Given the description of an element on the screen output the (x, y) to click on. 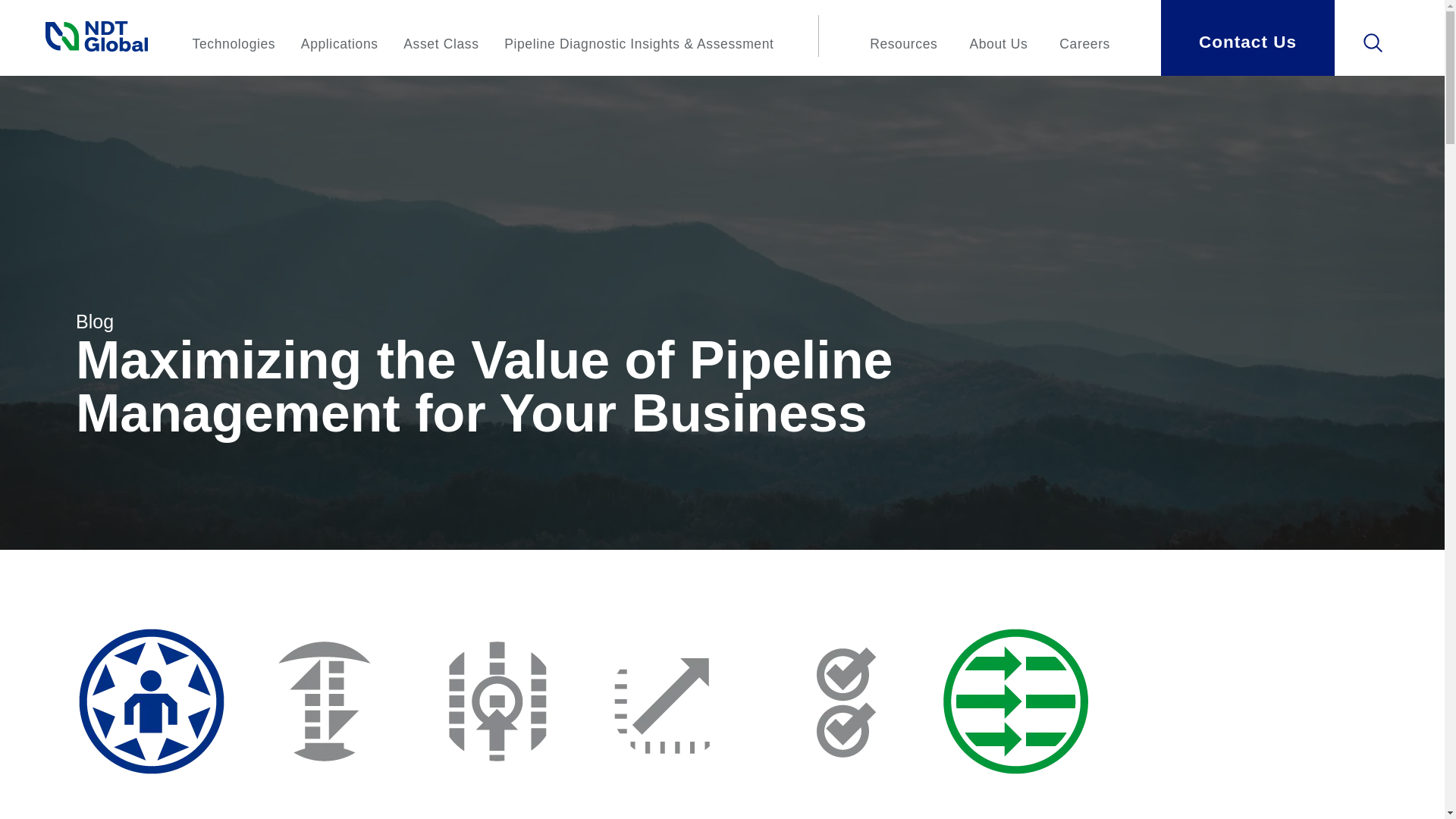
About Us (998, 43)
Technologies (234, 43)
Chat Widget (1406, 782)
Resources (903, 43)
Careers (1084, 43)
Applications (339, 43)
Contact Us (1247, 38)
Asset Class (441, 43)
